Given the description of an element on the screen output the (x, y) to click on. 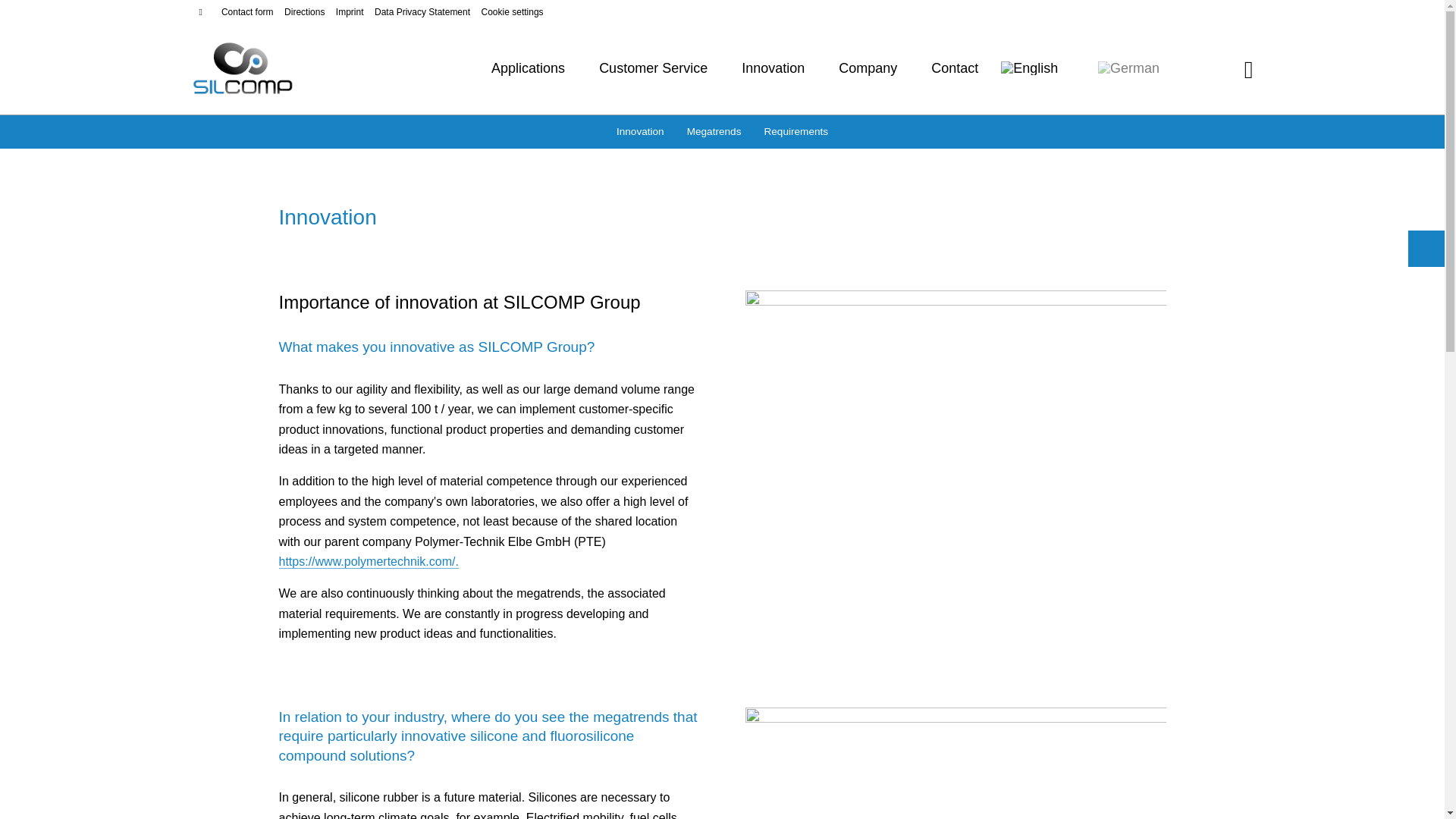
Requirements (796, 131)
Megatrends (713, 131)
Imprint (349, 12)
Contact form (247, 12)
Data Privacy Statement (422, 12)
Customer Service (652, 68)
Innovation (773, 68)
Directions (305, 12)
Company (867, 68)
Contact (954, 68)
